Given the description of an element on the screen output the (x, y) to click on. 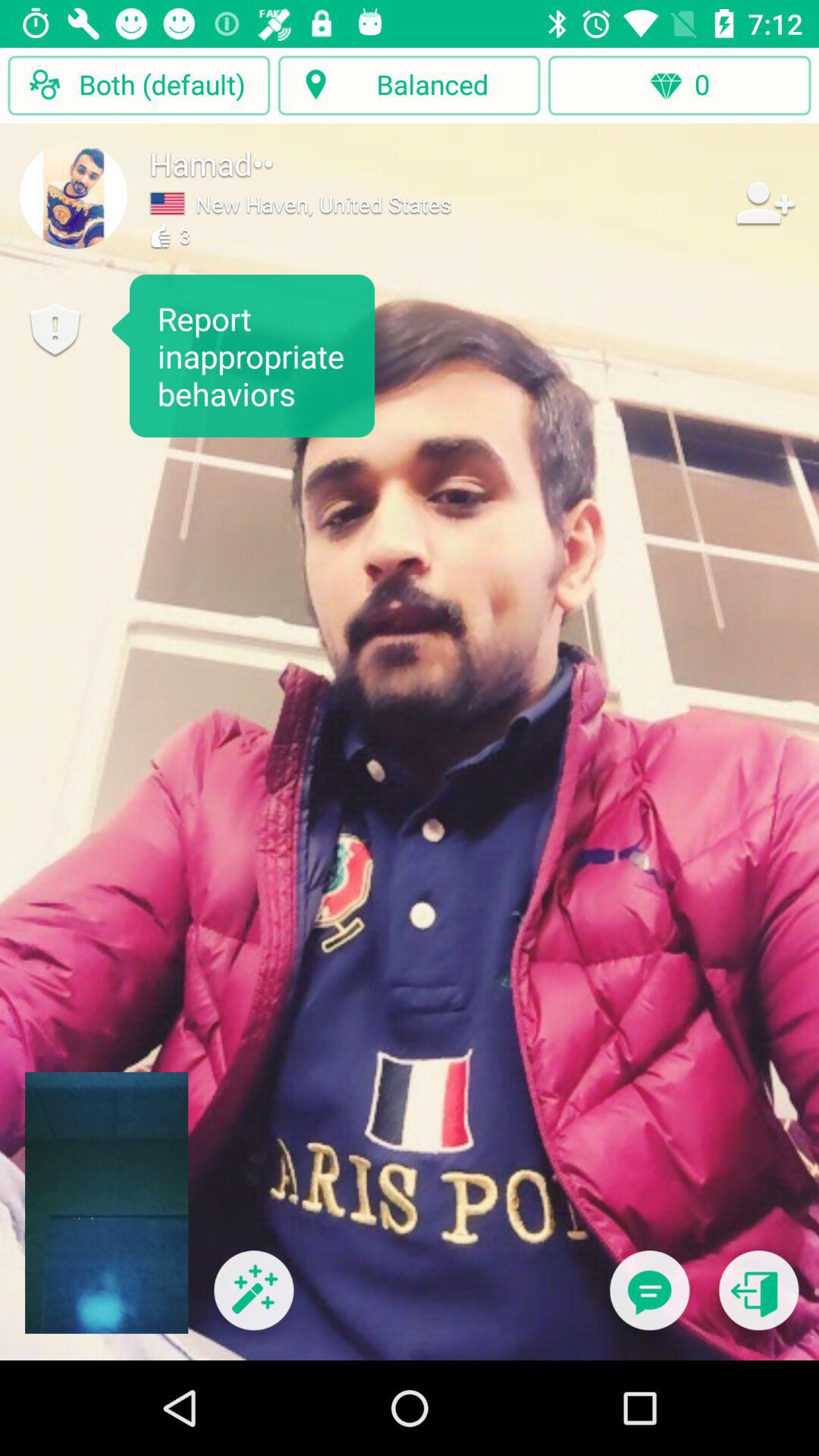
press the item below the both (default) item (73, 195)
